Given the description of an element on the screen output the (x, y) to click on. 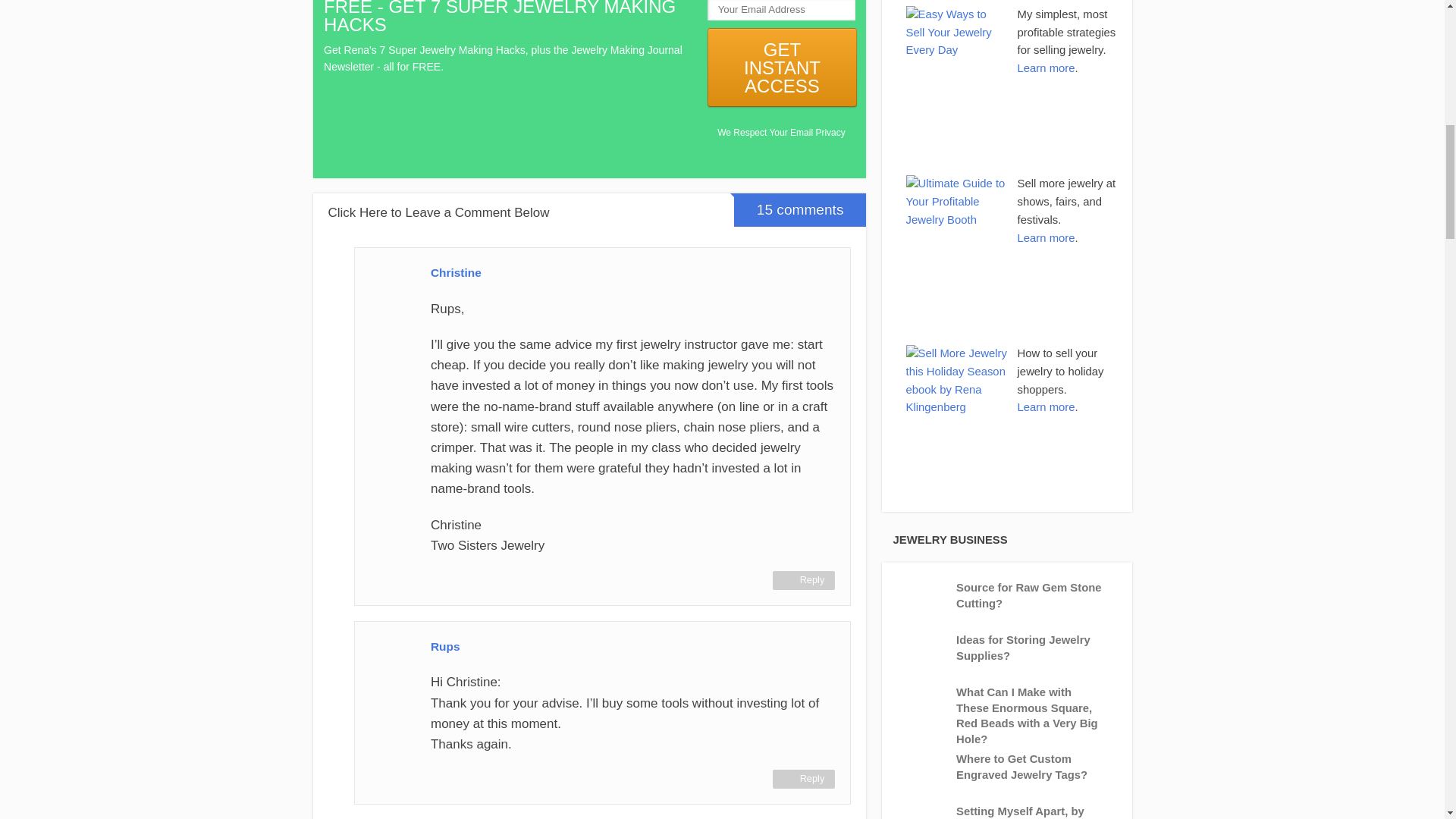
GET INSTANT ACCESS (781, 67)
